Given the description of an element on the screen output the (x, y) to click on. 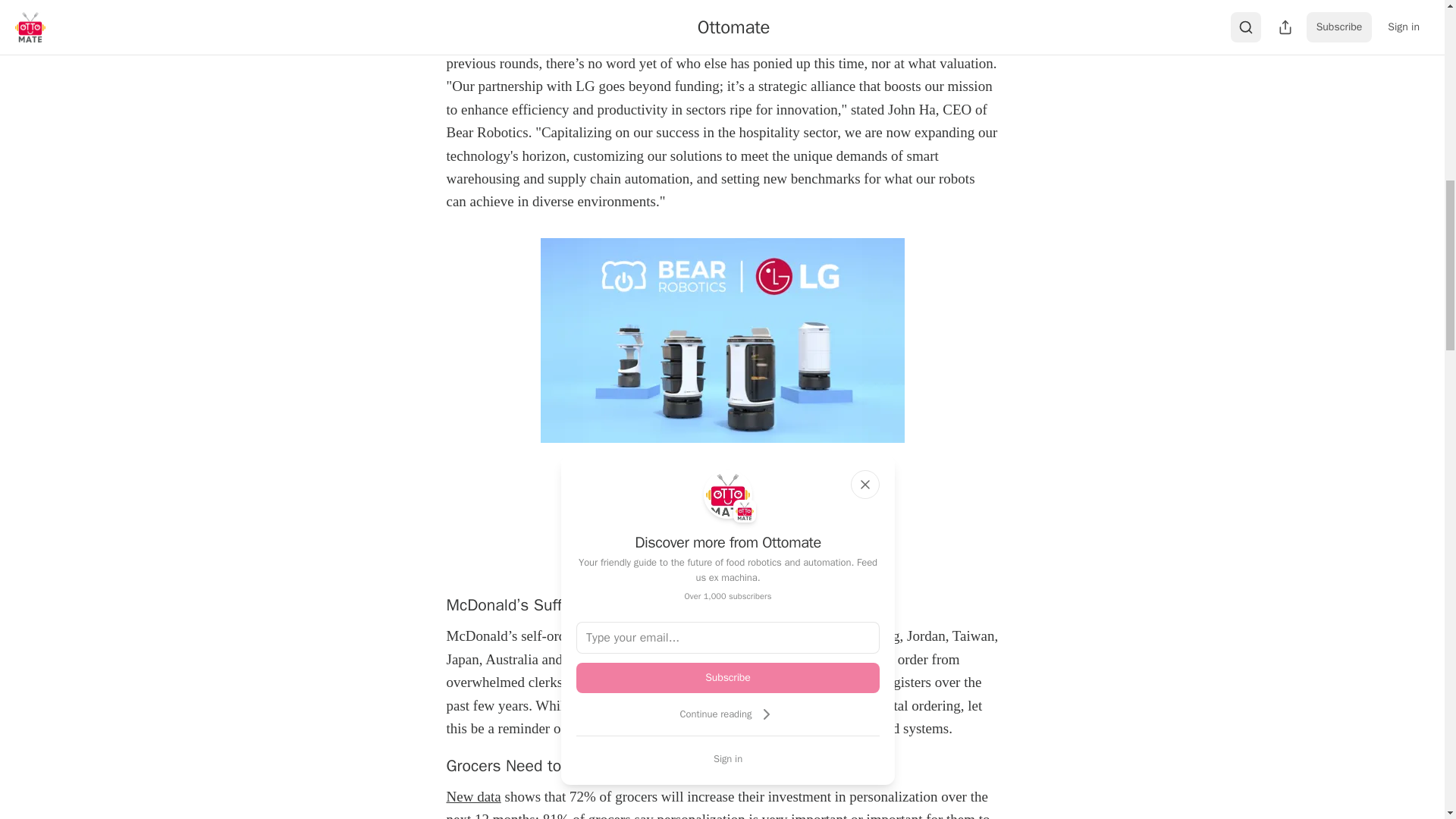
New data (472, 796)
Subscribe (727, 677)
Subscribe (827, 562)
Sign in (727, 758)
hours-long outage, (738, 659)
major outage (775, 635)
